Given the description of an element on the screen output the (x, y) to click on. 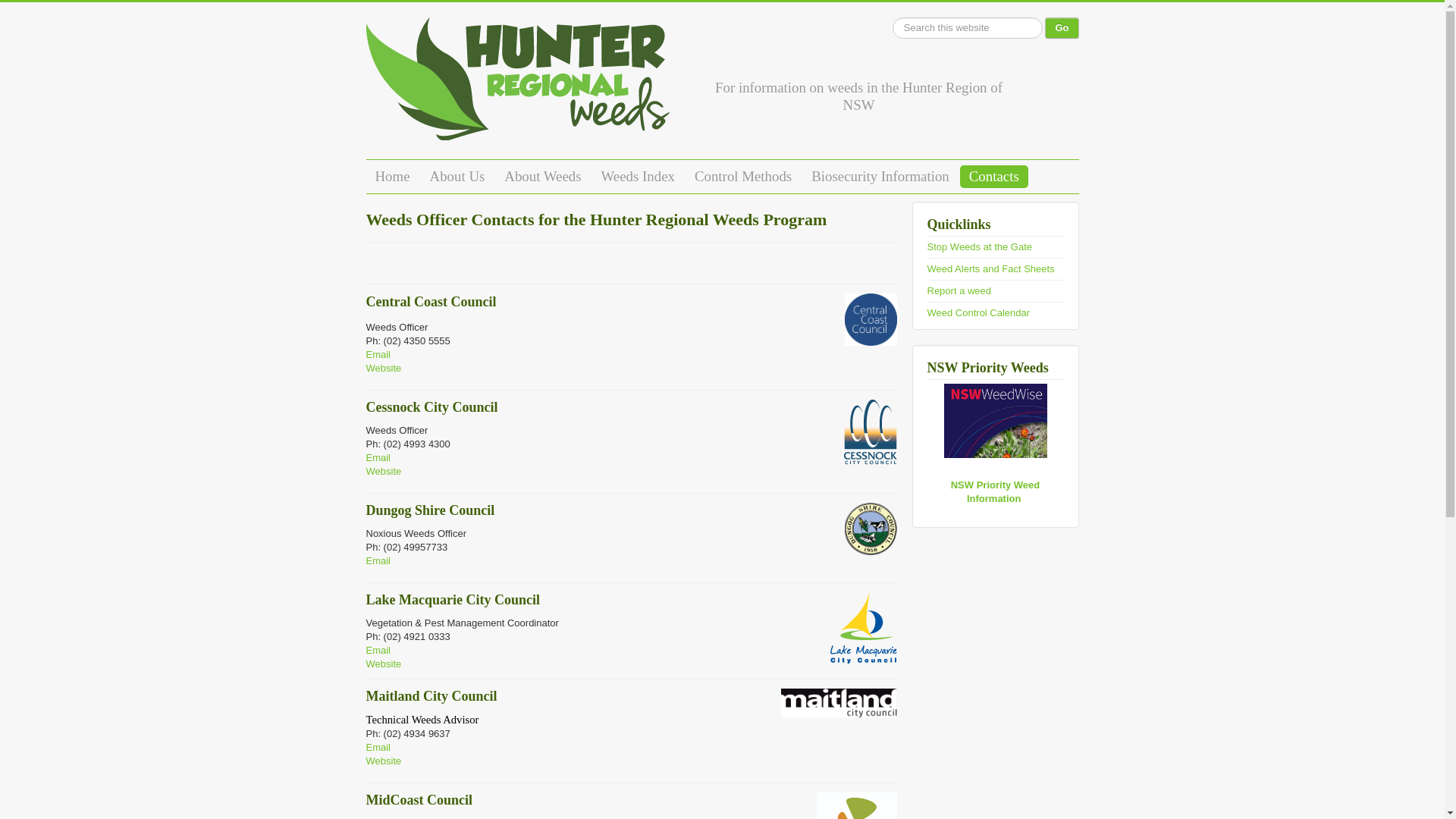
Biosecurity Information Element type: text (880, 176)
Contacts Element type: text (994, 176)
Weeds Index Element type: text (638, 176)
Home Element type: text (391, 176)
Weed Alerts and Fact Sheets Element type: text (990, 268)
Email Element type: text (377, 560)
Email Element type: text (377, 649)
Go Element type: text (1061, 27)
Stop Weeds at the Gate Element type: text (979, 246)
Weed Control Calendar Element type: text (977, 312)
Website Element type: text (383, 367)
Website Element type: text (383, 663)
Report a weed Element type: text (958, 290)
Email Element type: text (377, 747)
Email Element type: text (377, 354)
Email Element type: text (377, 457)
About Weeds Element type: text (542, 176)
About Us Element type: text (457, 176)
For information on weeds in the Hunter Region of NSW Element type: text (516, 84)
Website Element type: text (383, 470)
NSW Priority Weed Information Element type: text (995, 491)
Website Element type: text (383, 760)
Control Methods Element type: text (742, 176)
